Given the description of an element on the screen output the (x, y) to click on. 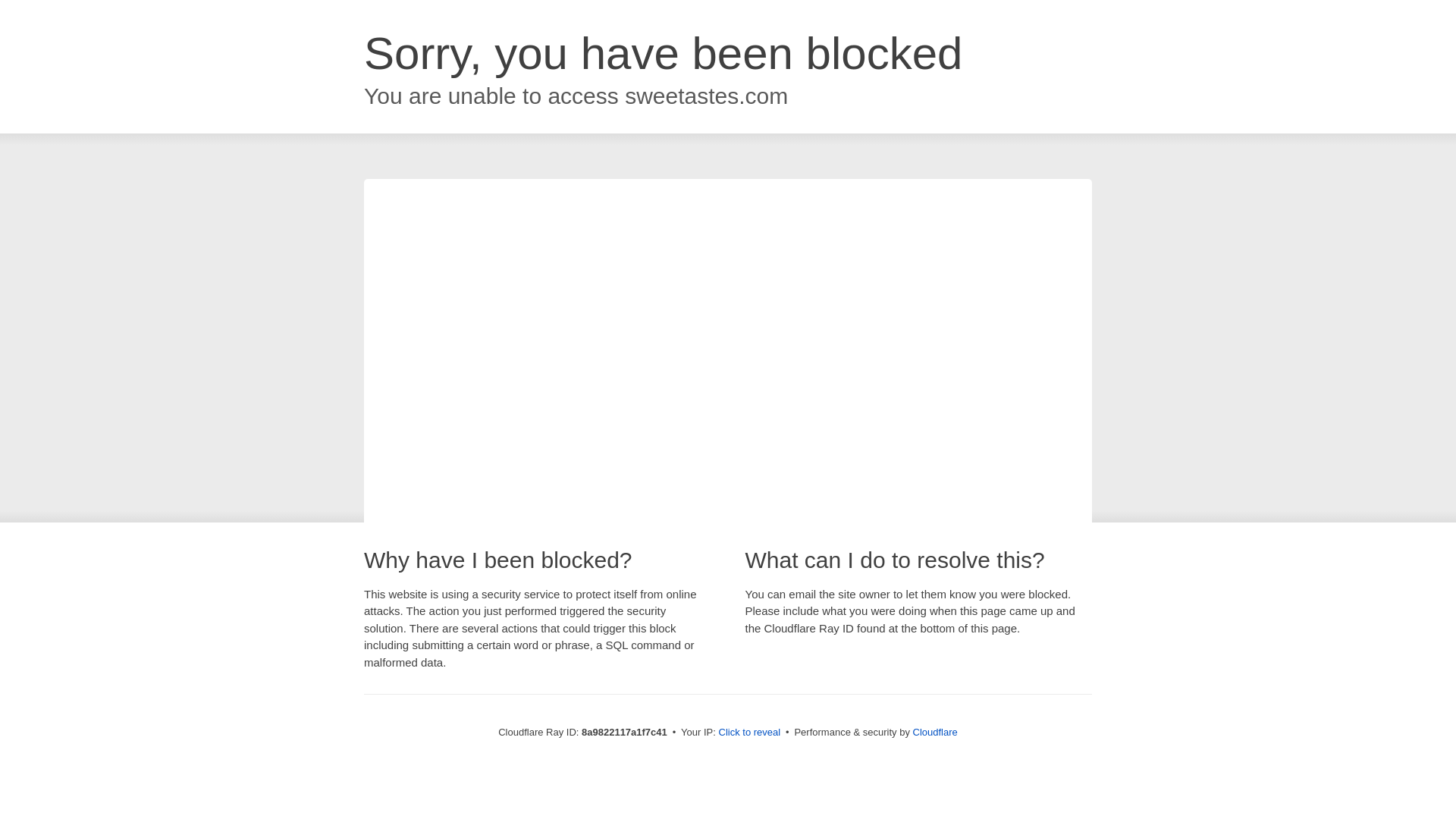
Click to reveal (749, 732)
Cloudflare (935, 731)
